Given the description of an element on the screen output the (x, y) to click on. 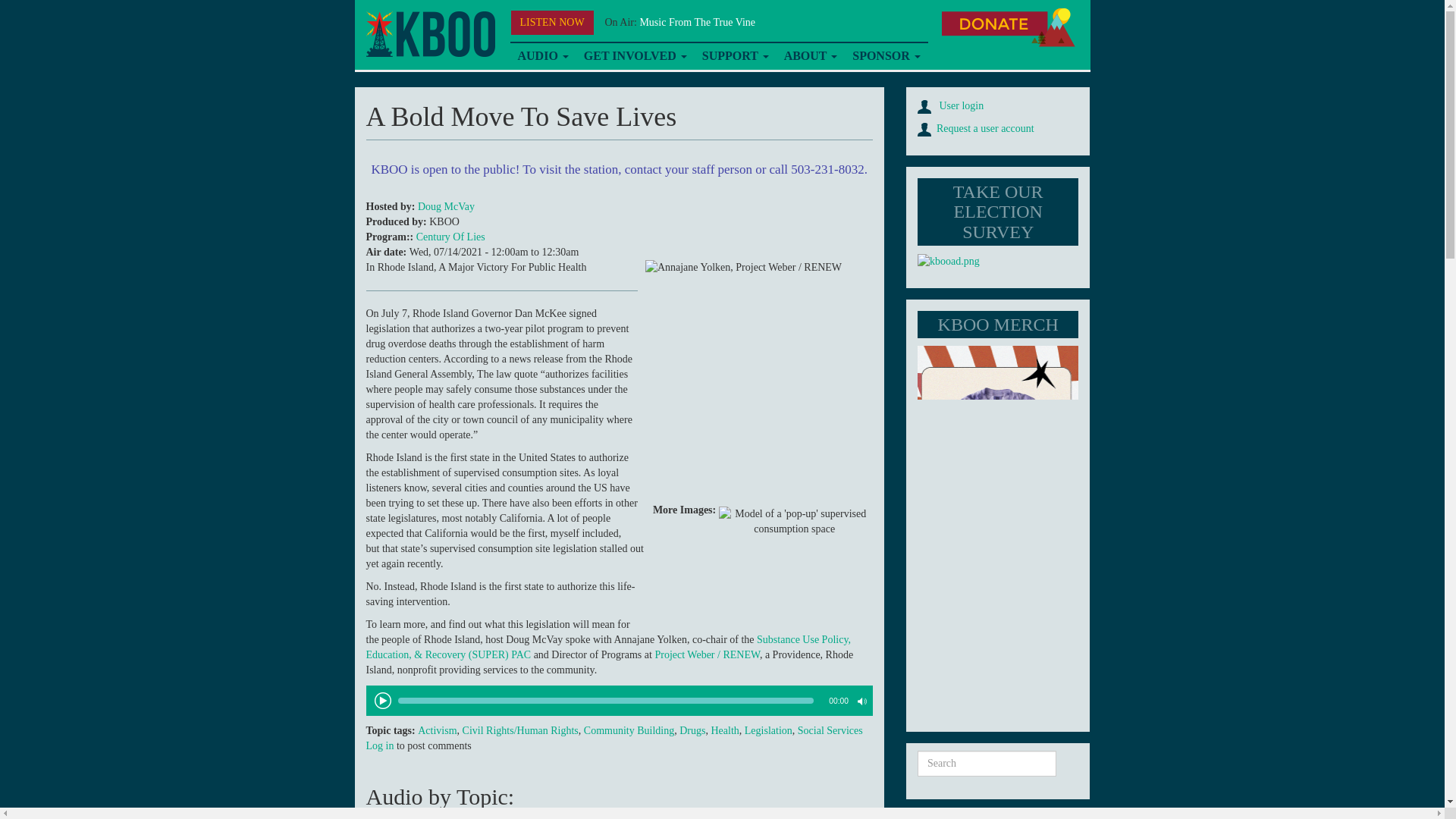
Music From The True Vine (697, 21)
GET INVOLVED (635, 55)
LISTEN NOW (551, 22)
Home (430, 34)
AUDIO (542, 55)
ABOUT (810, 55)
SUPPORT (735, 55)
